Given the description of an element on the screen output the (x, y) to click on. 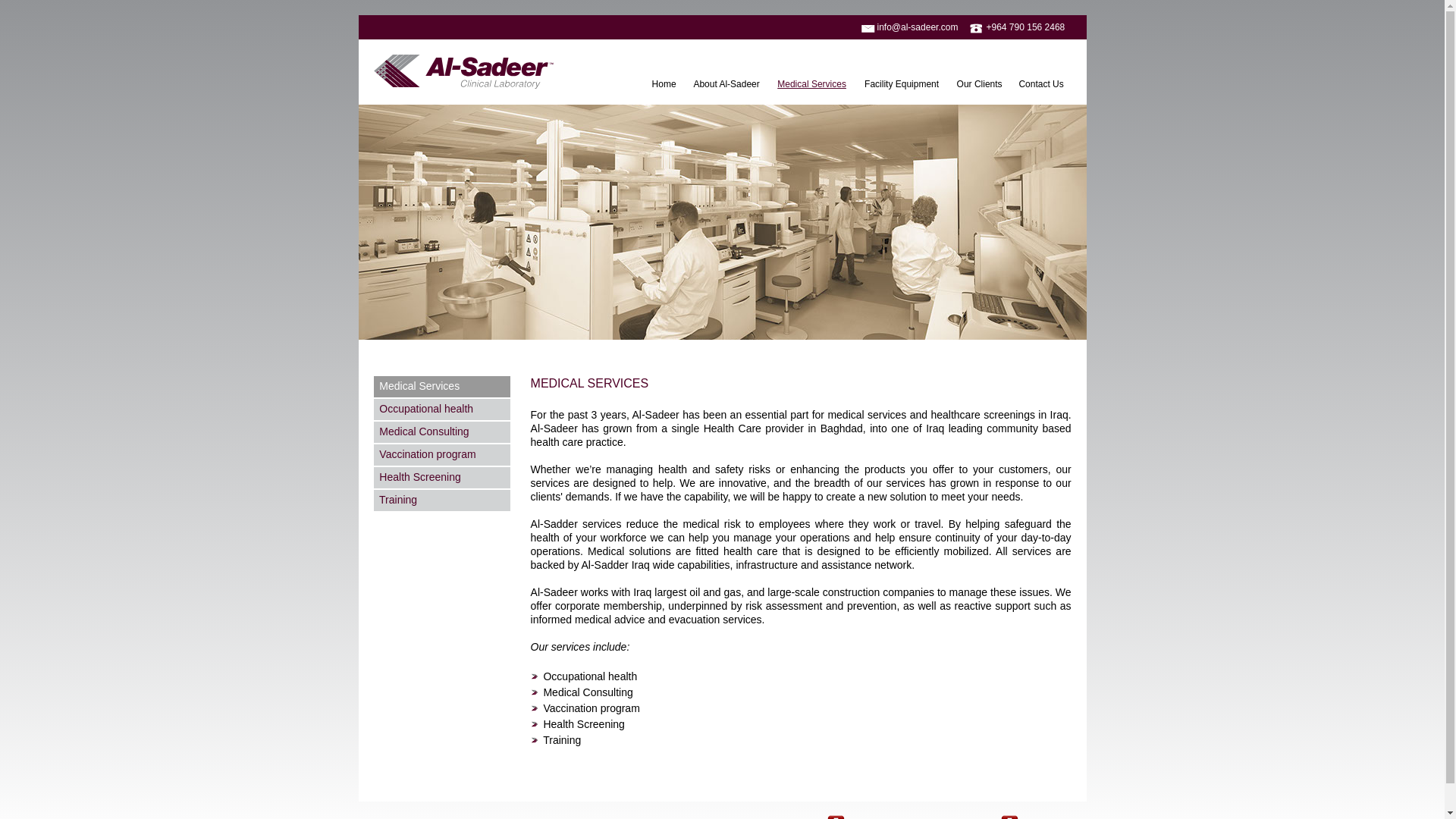
  Training (442, 500)
Facility Equipment (902, 84)
Medical Services (813, 84)
  Health Screening (442, 477)
Contact Us (1041, 84)
  Medical Services (442, 386)
Our Clients (979, 84)
  Medical Consulting (442, 432)
  Vaccination program (442, 455)
About Al-Sadeer (726, 84)
